Given the description of an element on the screen output the (x, y) to click on. 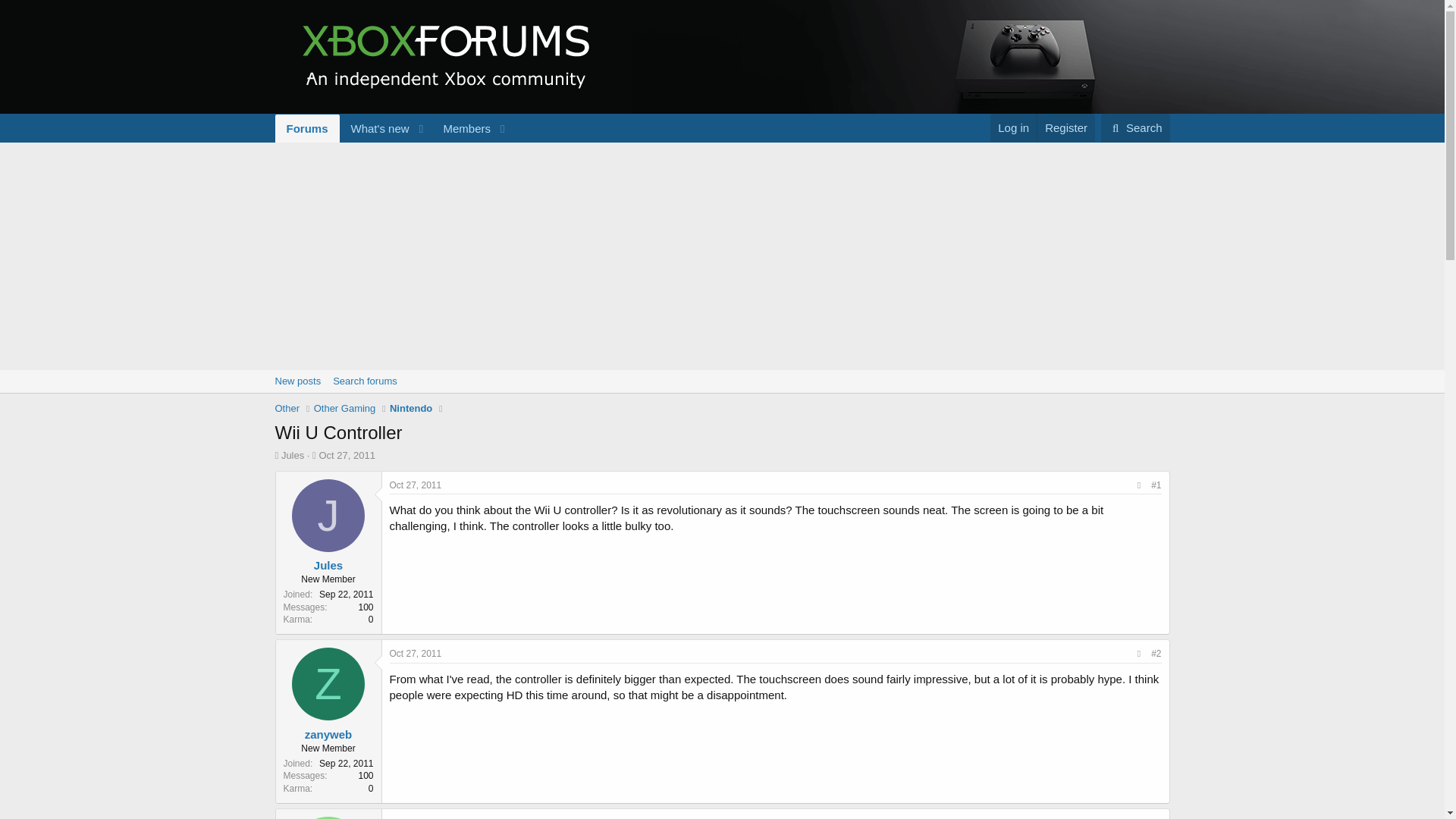
Other (720, 398)
Oct 27, 2011 at 1:48 AM (287, 408)
Oct 27, 2011 at 1:13 AM (392, 128)
J (416, 653)
New posts (346, 455)
Search forums (328, 515)
Jules (296, 381)
Members (364, 381)
Search (292, 455)
Nintendo (461, 128)
Register (1135, 127)
Oct 27, 2011 (411, 408)
Oct 27, 2011 at 1:13 AM (1065, 127)
